Given the description of an element on the screen output the (x, y) to click on. 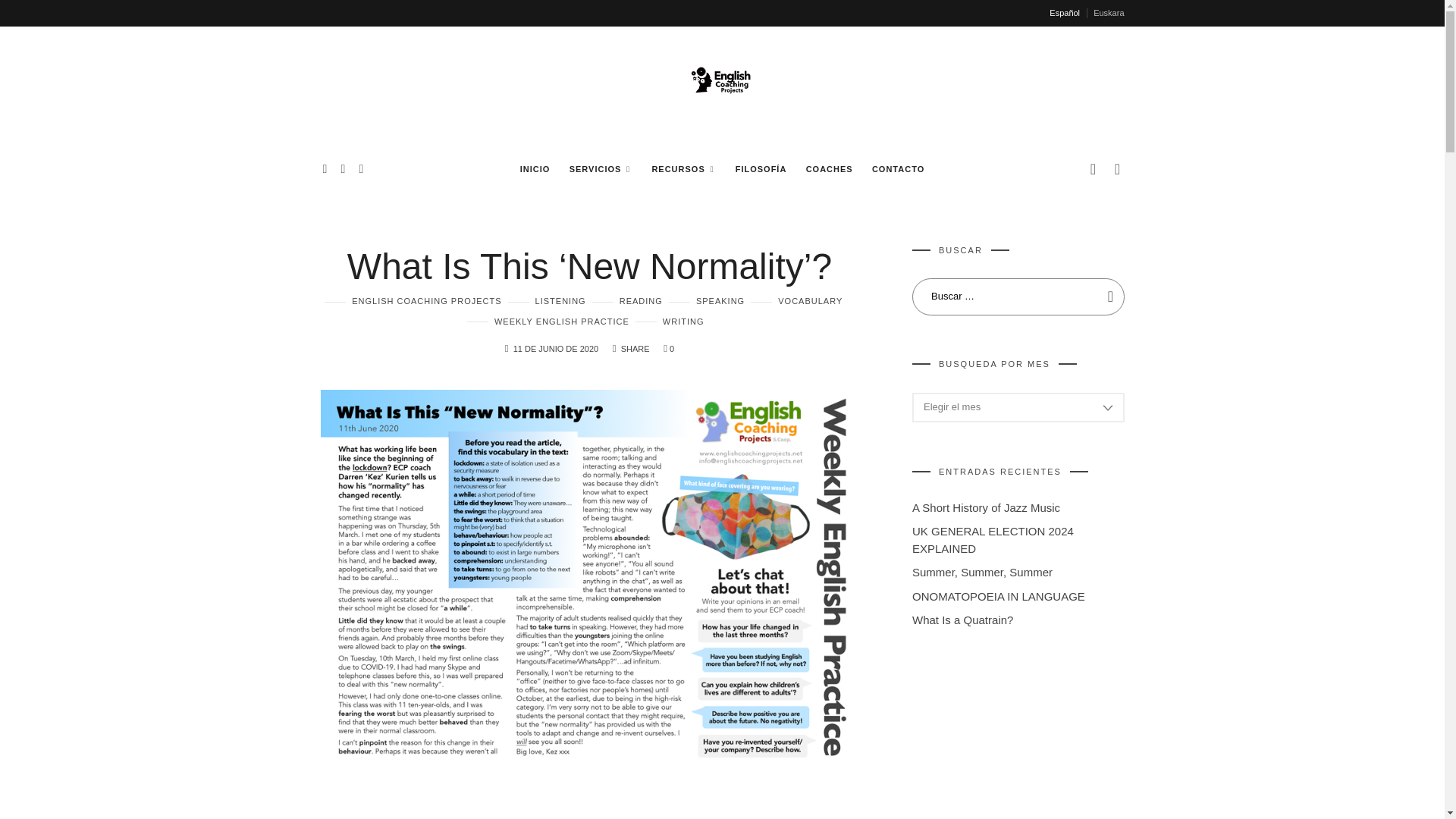
English Coaching Projects (722, 84)
SERVICIOS (601, 168)
CONTACTO (897, 168)
Euskara (1108, 12)
RECURSOS (683, 168)
COACHES (829, 168)
